Given the description of an element on the screen output the (x, y) to click on. 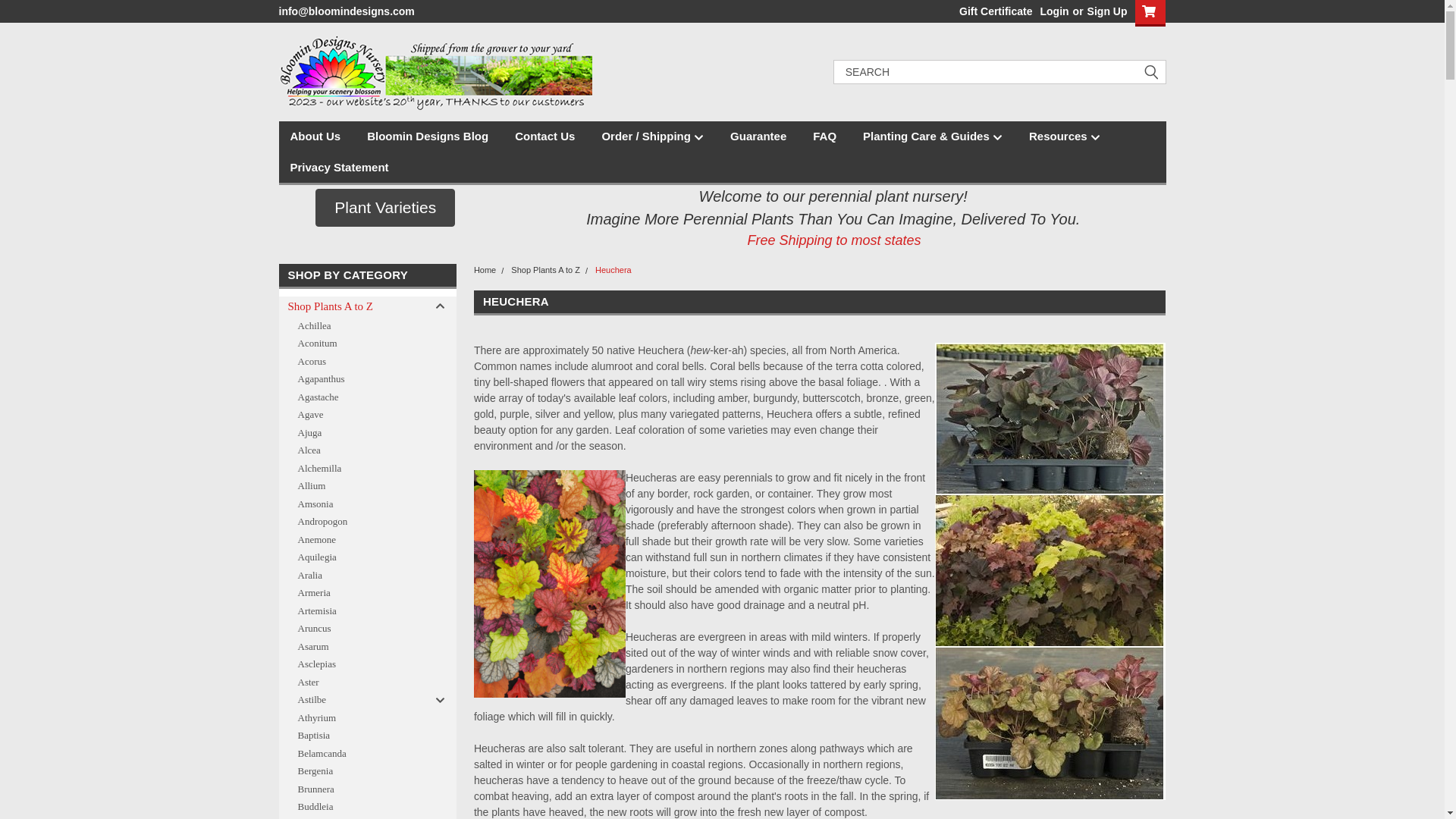
Login (1054, 11)
Gift Certificate (992, 11)
Bloomin Designs Nursery (435, 71)
submit (1150, 71)
Sign Up (1104, 11)
